Given the description of an element on the screen output the (x, y) to click on. 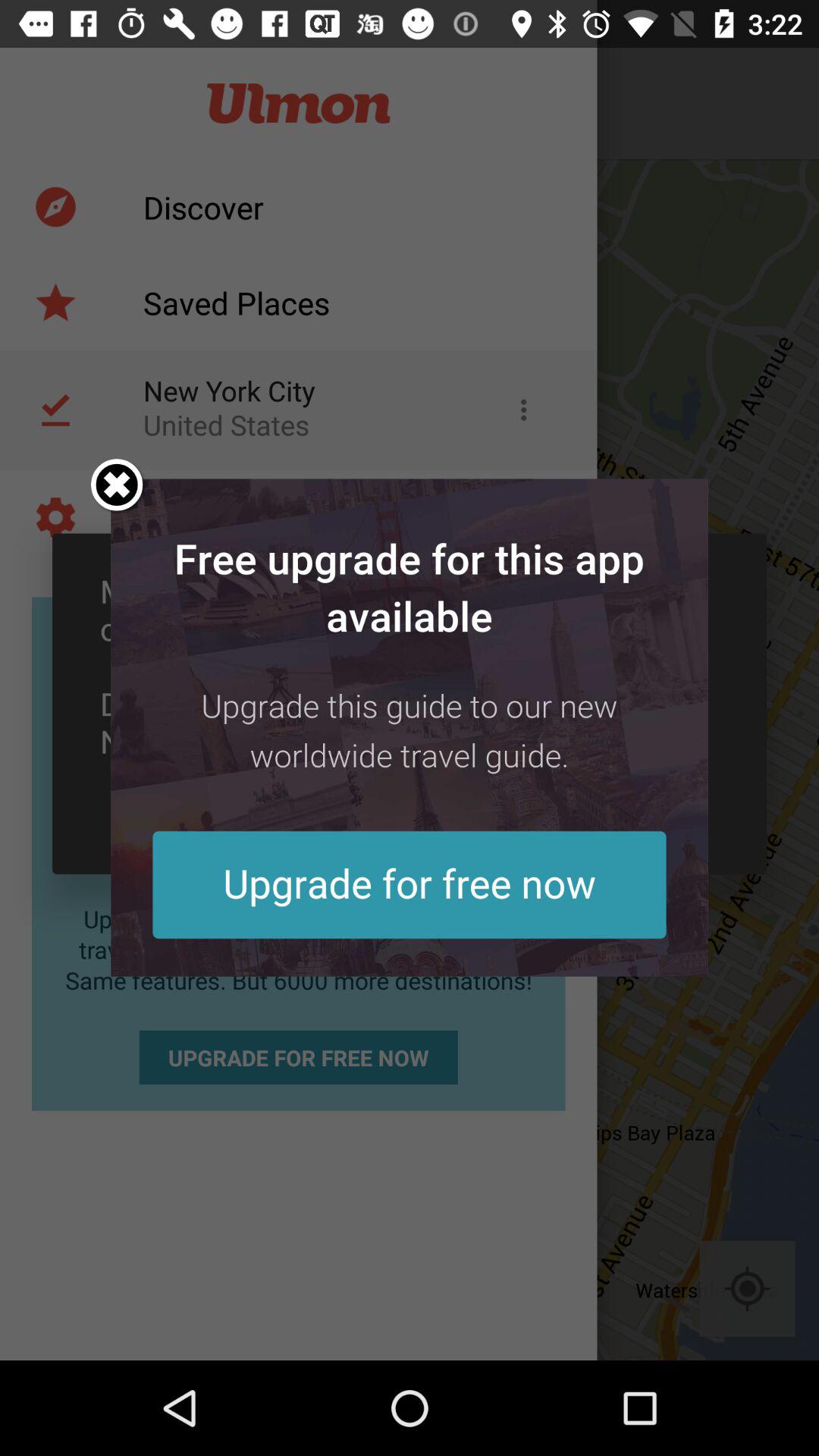
upgrade this app for free (409, 727)
